Given the description of an element on the screen output the (x, y) to click on. 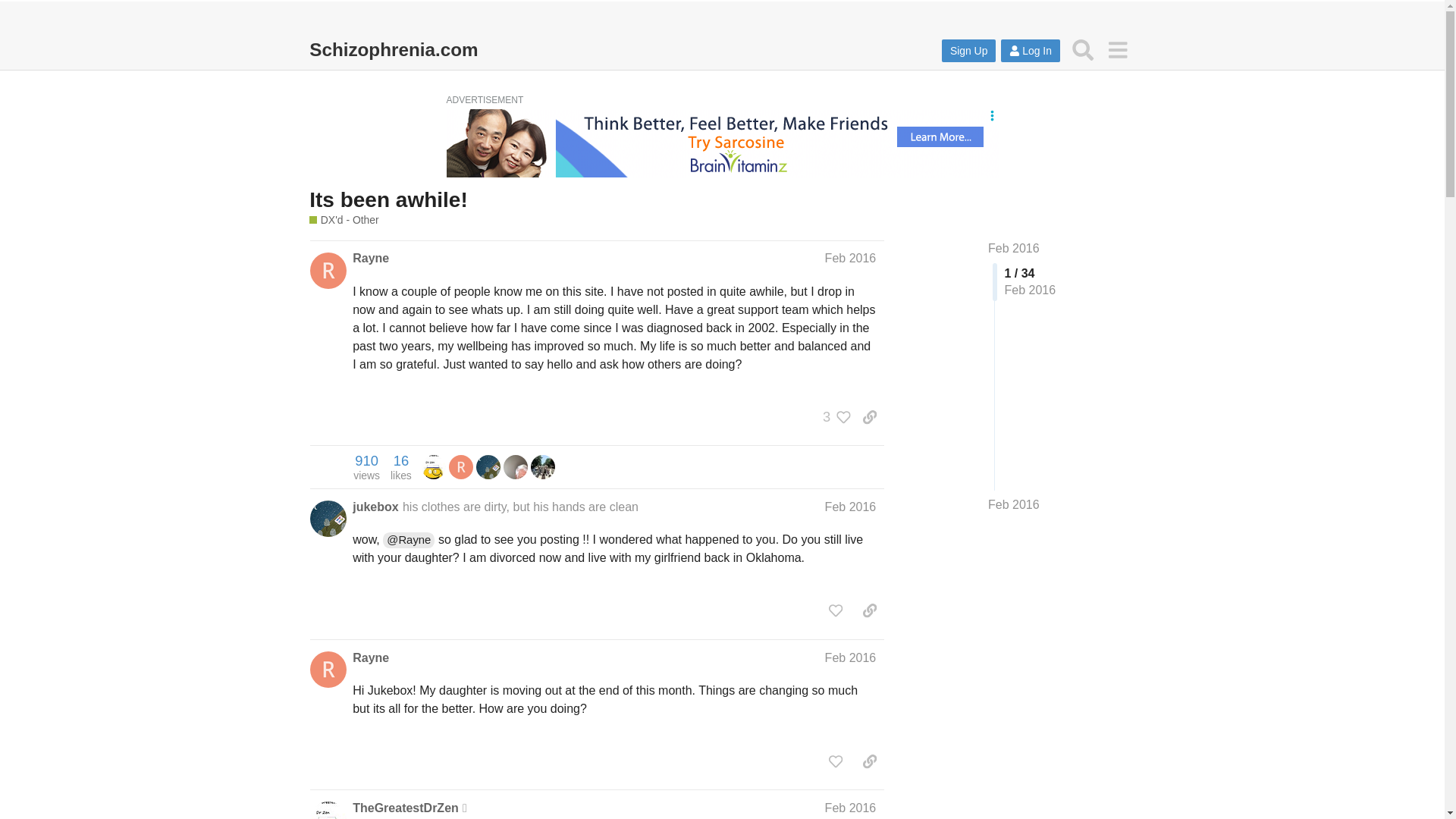
3 people liked this post (832, 416)
Feb 2016 (1013, 504)
Rayne (370, 658)
Rayne (460, 467)
copy a link to this post to clipboard (869, 416)
Jayster (515, 465)
Schizophrenia.com (392, 49)
jukebox (488, 465)
jukebox (488, 467)
Sign Up (968, 50)
